Given the description of an element on the screen output the (x, y) to click on. 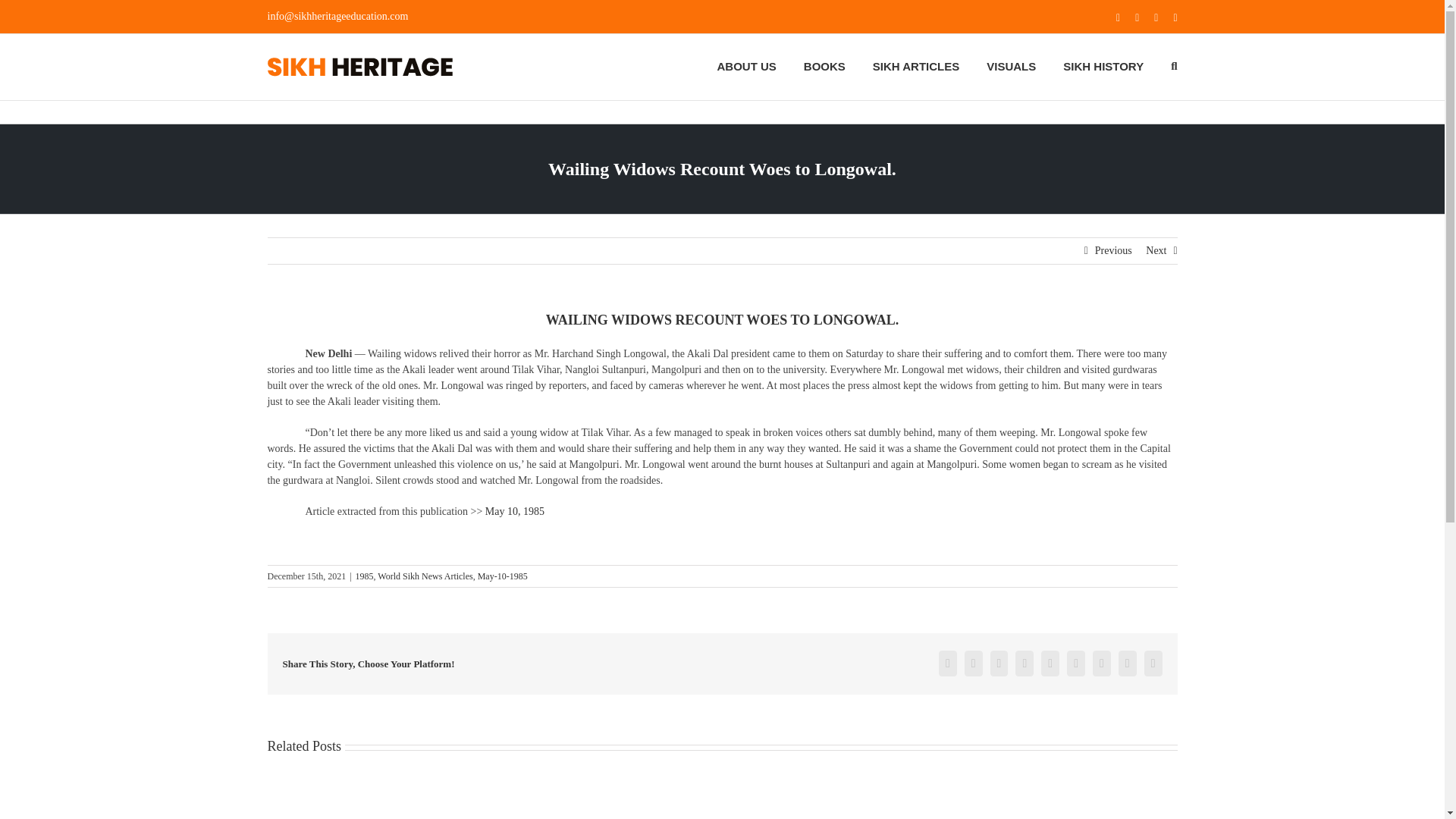
SIKH HISTORY (1102, 65)
ABOUT US (746, 65)
SIKH ARTICLES (915, 65)
